Given the description of an element on the screen output the (x, y) to click on. 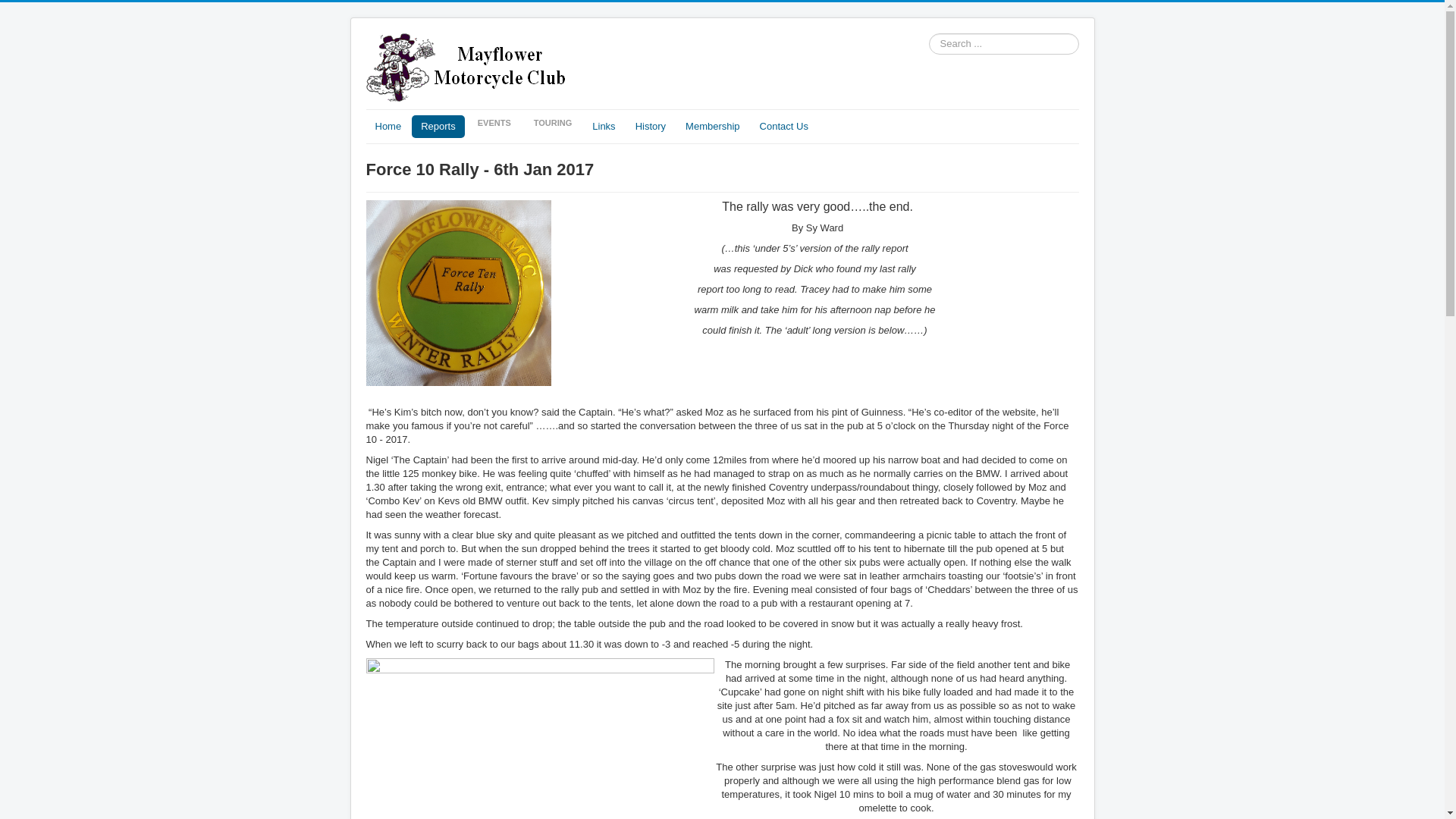
History (650, 126)
Reports (438, 126)
Links (603, 126)
Home (387, 126)
Contact Us (783, 126)
Membership (713, 126)
